Given the description of an element on the screen output the (x, y) to click on. 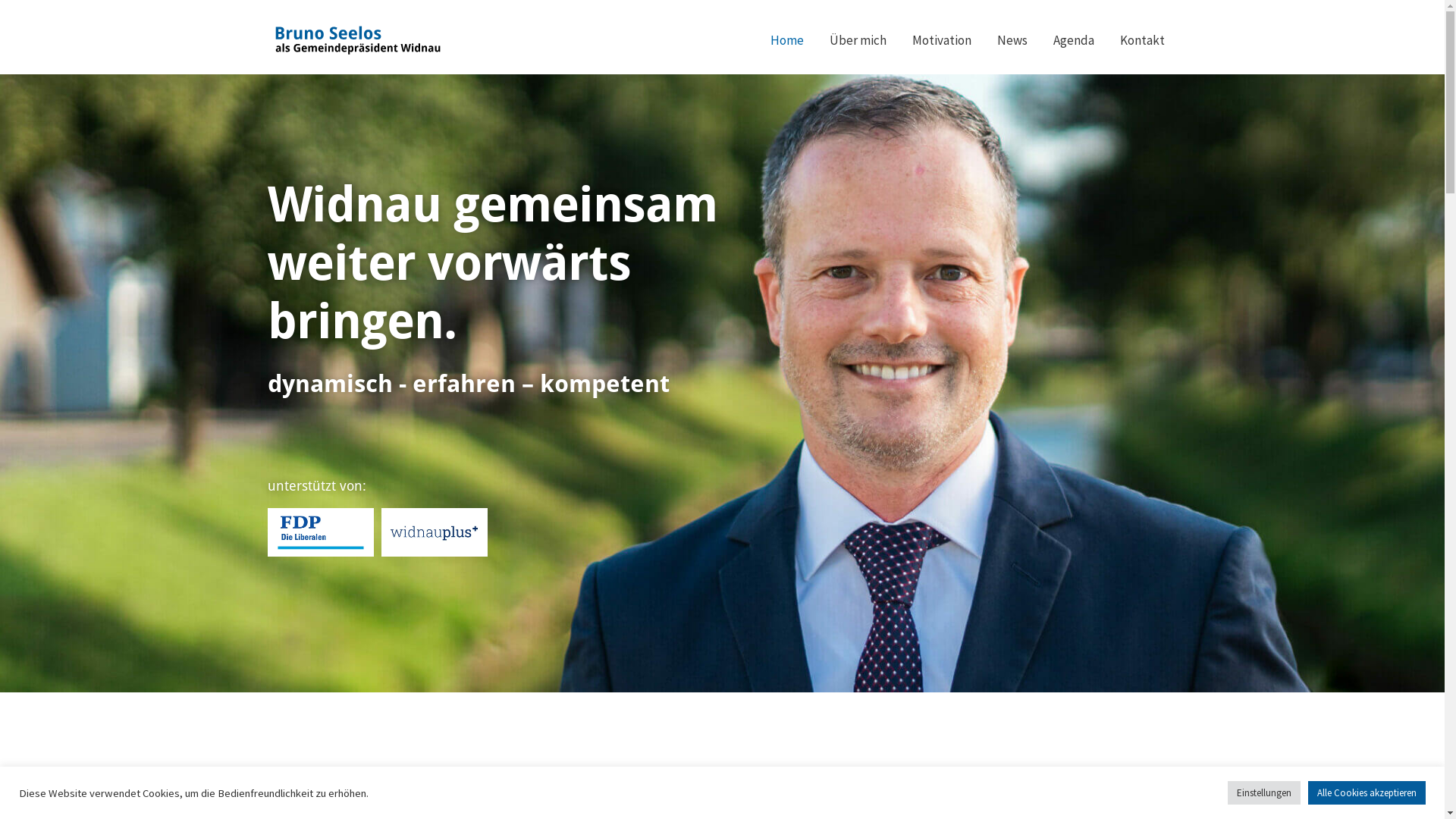
Alle Cookies akzeptieren Element type: text (1366, 792)
Home Element type: text (785, 39)
News Element type: text (1012, 39)
Einstellungen Element type: text (1263, 792)
Agenda Element type: text (1073, 39)
Kontakt Element type: text (1142, 39)
Motivation Element type: text (941, 39)
